Given the description of an element on the screen output the (x, y) to click on. 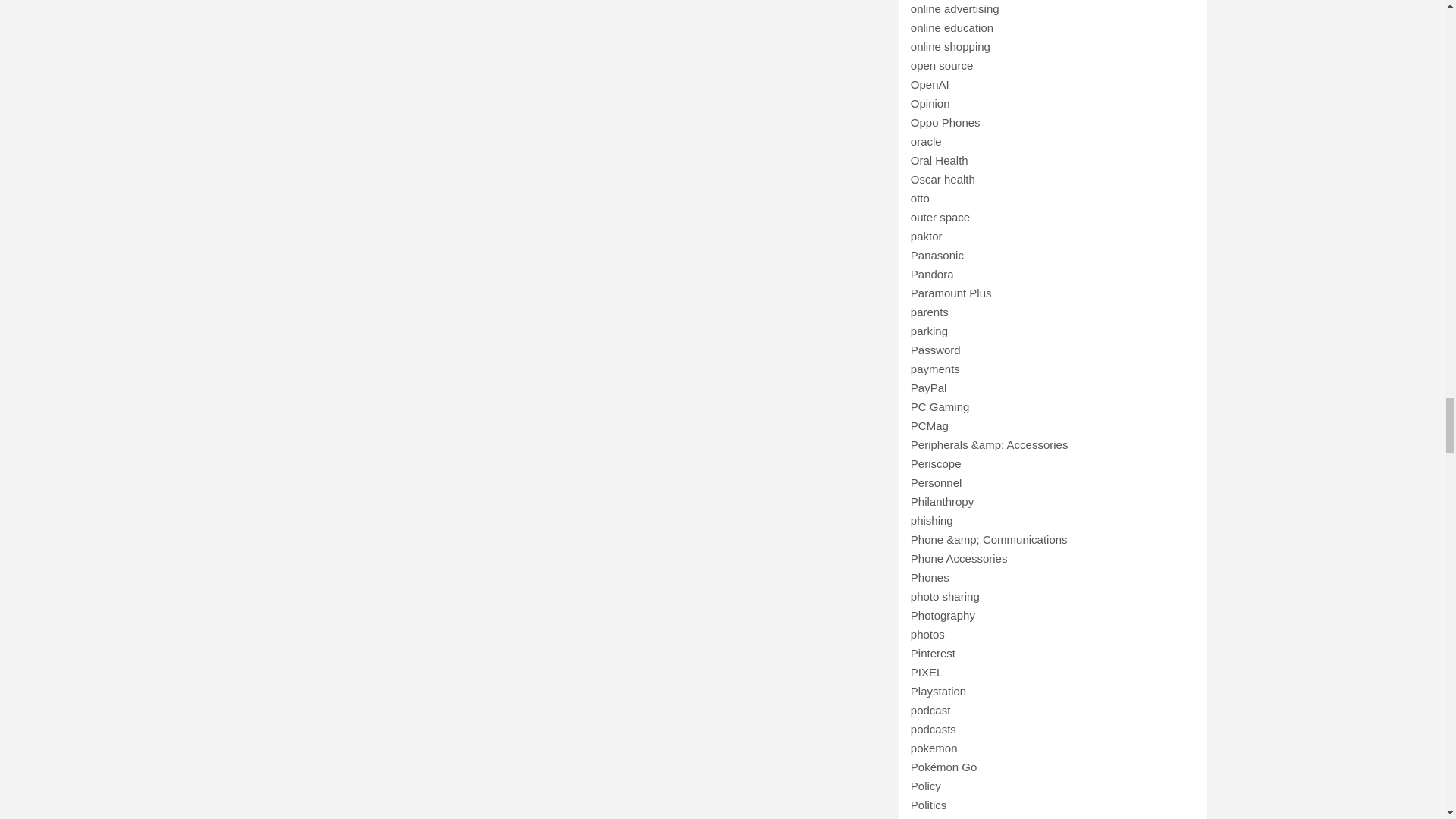
PCMag (930, 425)
